Given the description of an element on the screen output the (x, y) to click on. 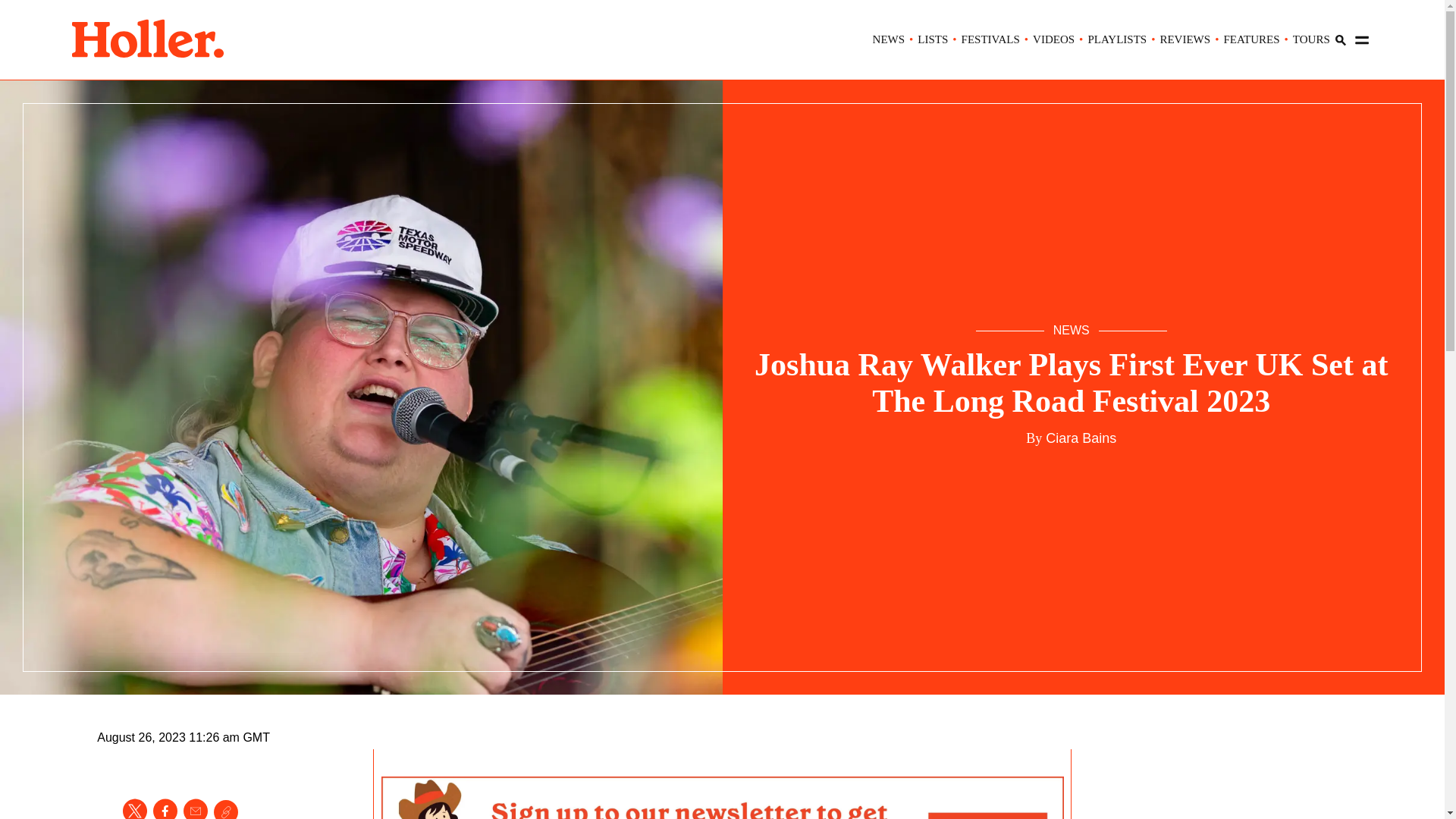
TOURS (1311, 39)
PLAYLISTS (1117, 39)
VIDEOS (1053, 39)
FESTIVALS (990, 39)
Ciara Bains (1079, 437)
LISTS (932, 39)
NEWS (888, 39)
FEATURES (1251, 39)
REVIEWS (1183, 39)
